Given the description of an element on the screen output the (x, y) to click on. 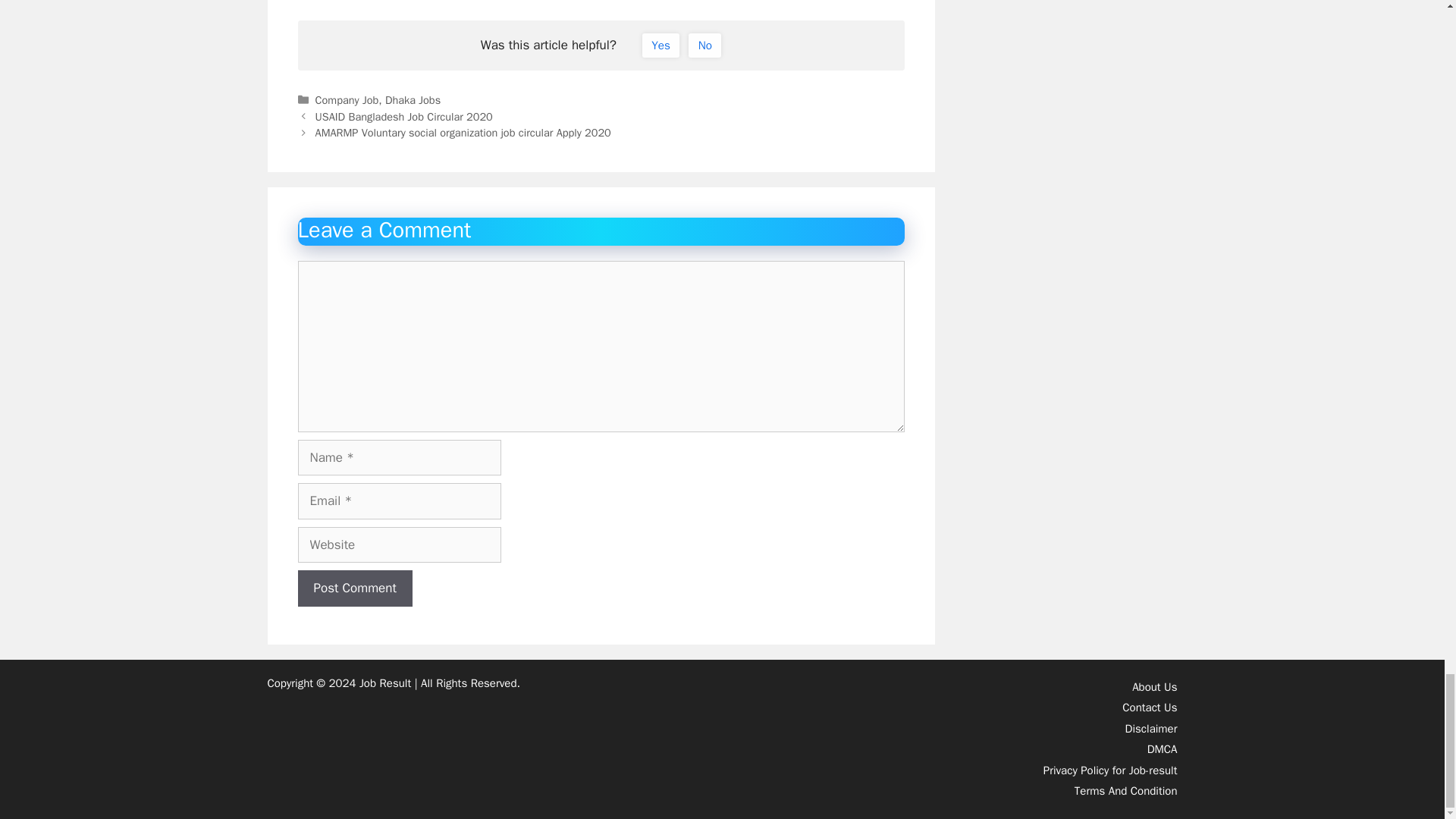
Post Comment (354, 588)
Post Comment (354, 588)
USAID Bangladesh Job Circular 2020 (404, 116)
AMARMP Voluntary social organization job circular Apply 2020 (463, 132)
Company Job (346, 100)
Dhaka Jobs (413, 100)
